Given the description of an element on the screen output the (x, y) to click on. 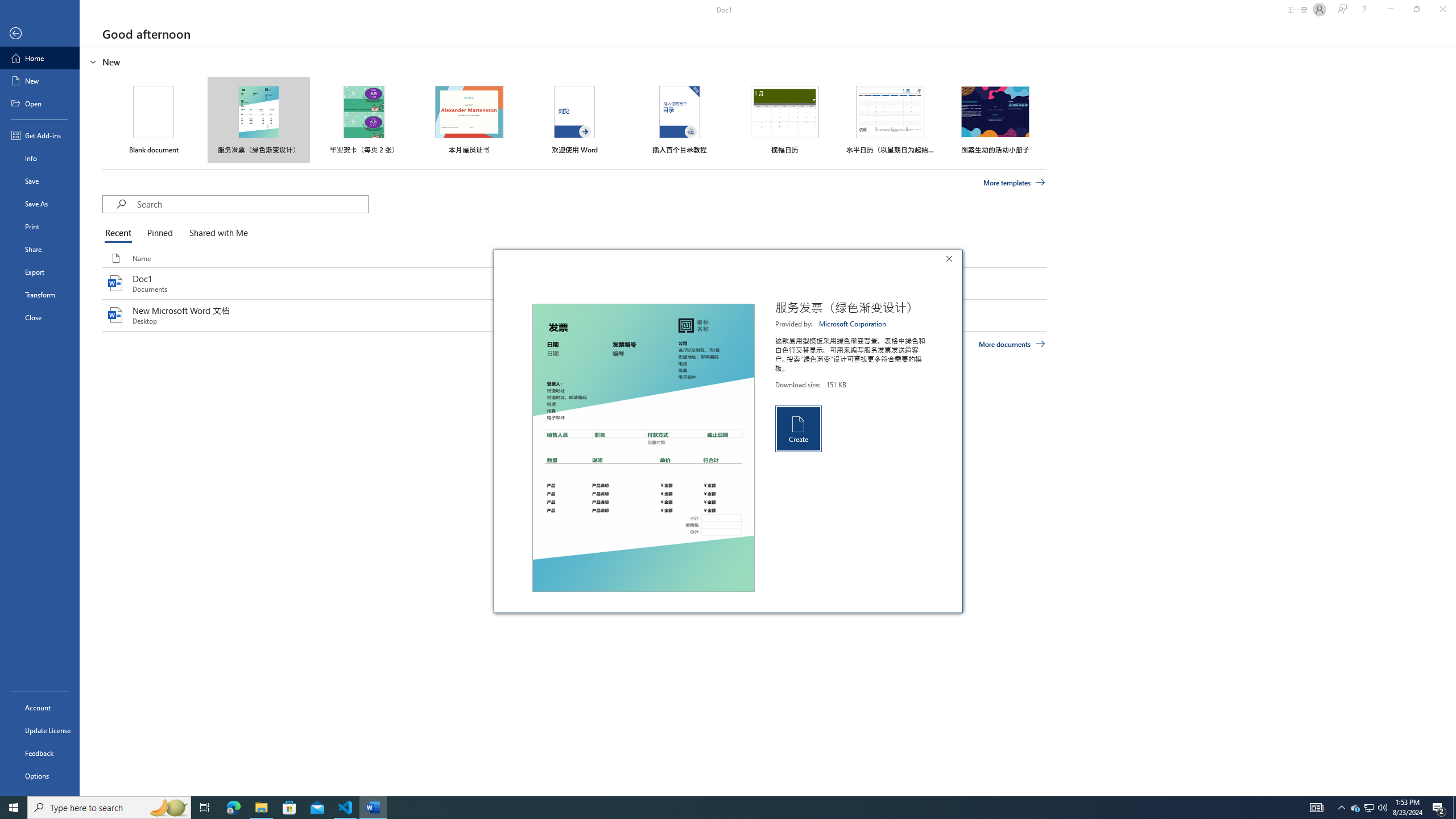
Visual Studio Code - 1 running window (345, 807)
Back (40, 33)
Pinned (159, 233)
Task View (204, 807)
